Given the description of an element on the screen output the (x, y) to click on. 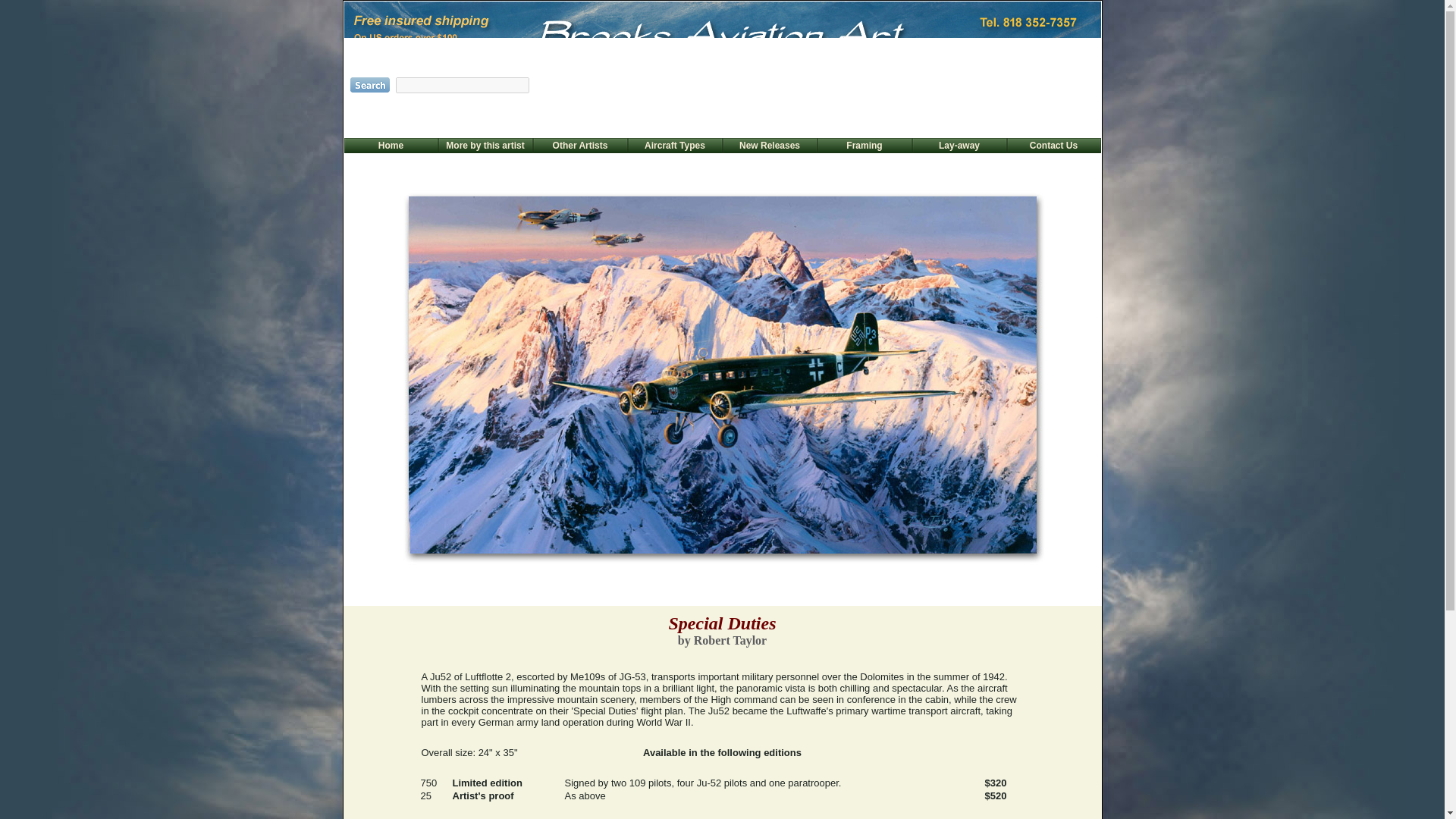
Aircraft Types (674, 145)
More by this artist (484, 145)
Other Artists (580, 145)
Lay-away (959, 145)
Home (390, 145)
Contact Us (1053, 145)
New Releases (769, 145)
Framing (863, 145)
